Given the description of an element on the screen output the (x, y) to click on. 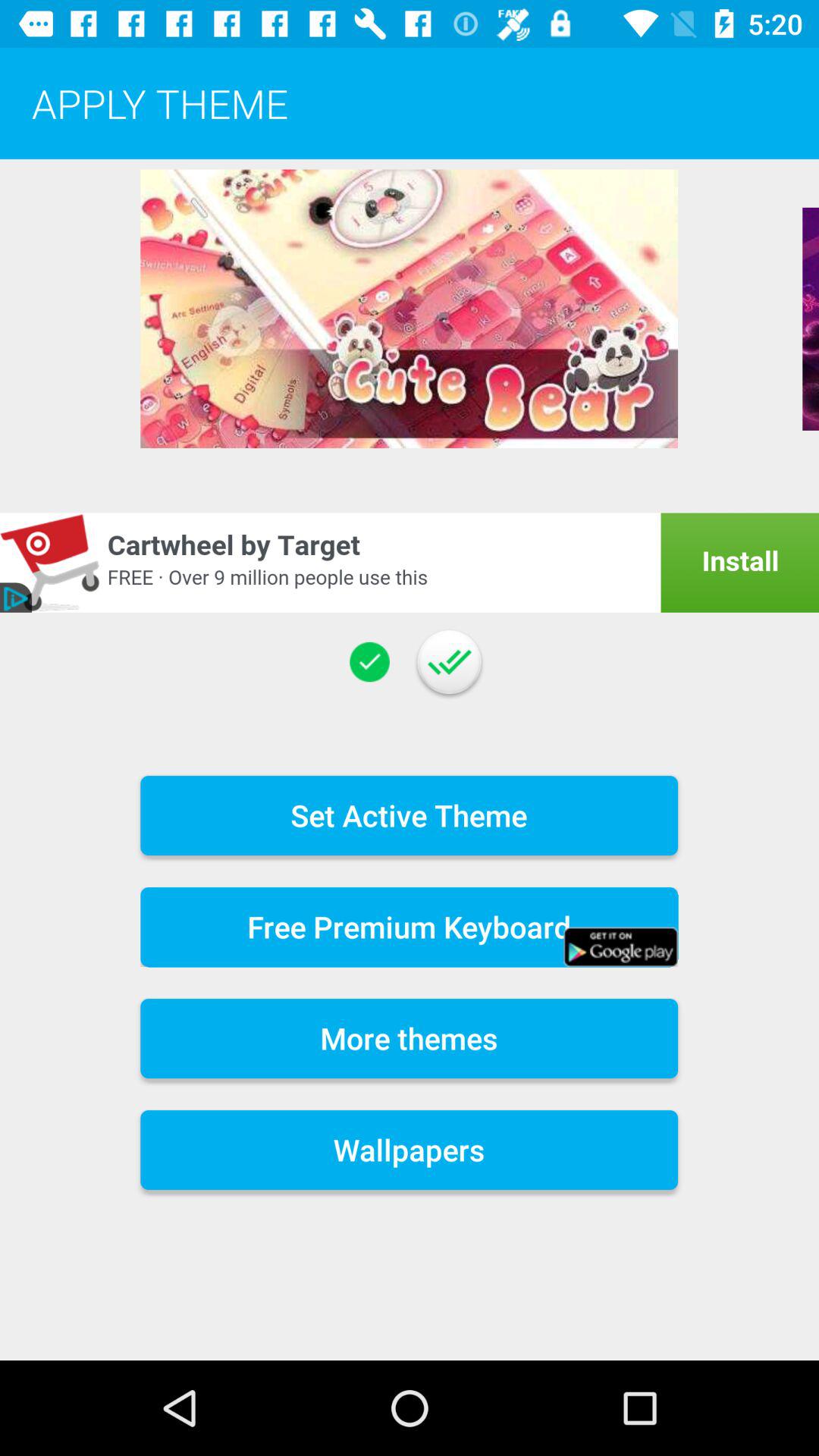
tap set active theme item (408, 815)
